Given the description of an element on the screen output the (x, y) to click on. 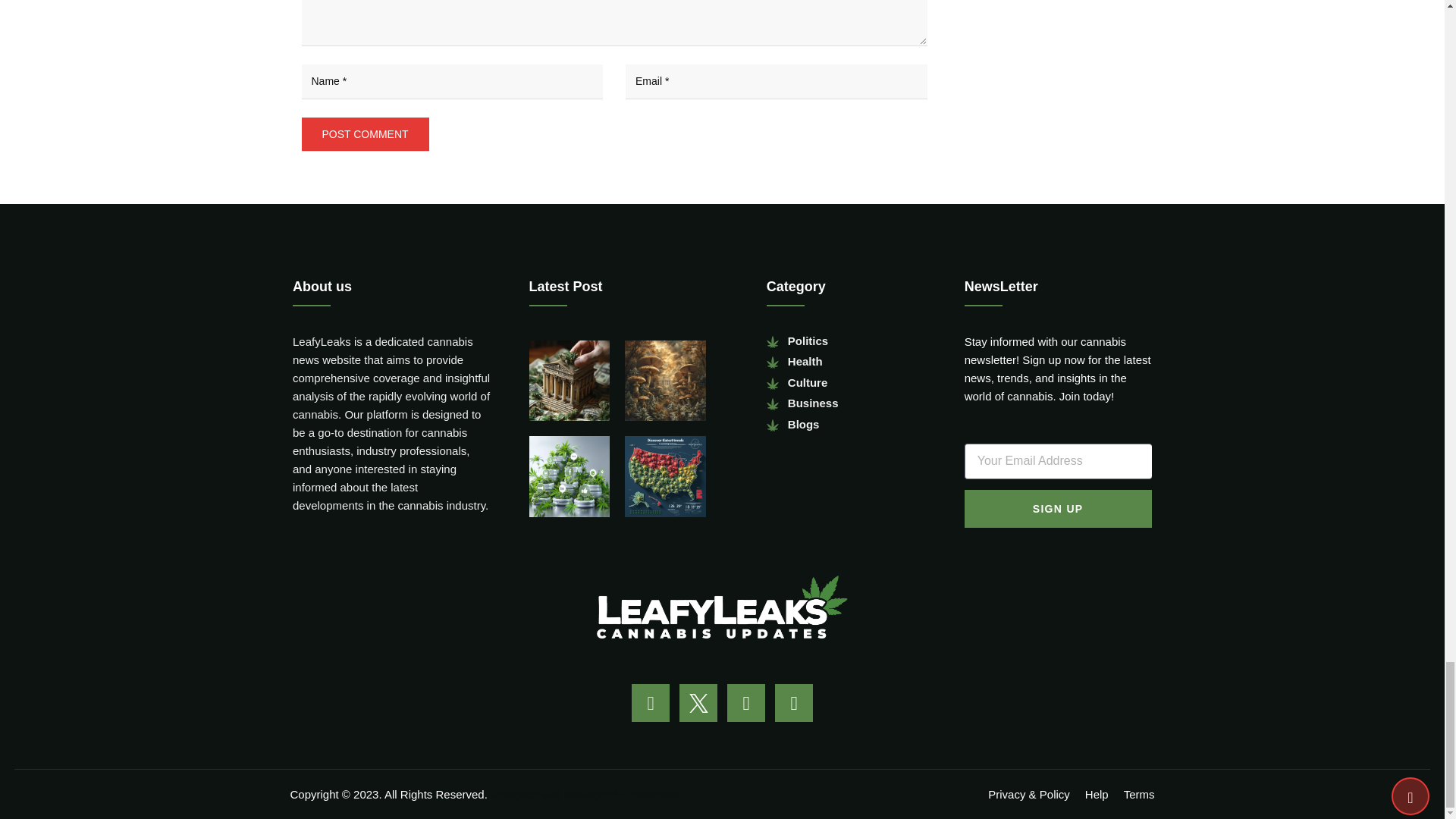
Post Comment (365, 133)
